Given the description of an element on the screen output the (x, y) to click on. 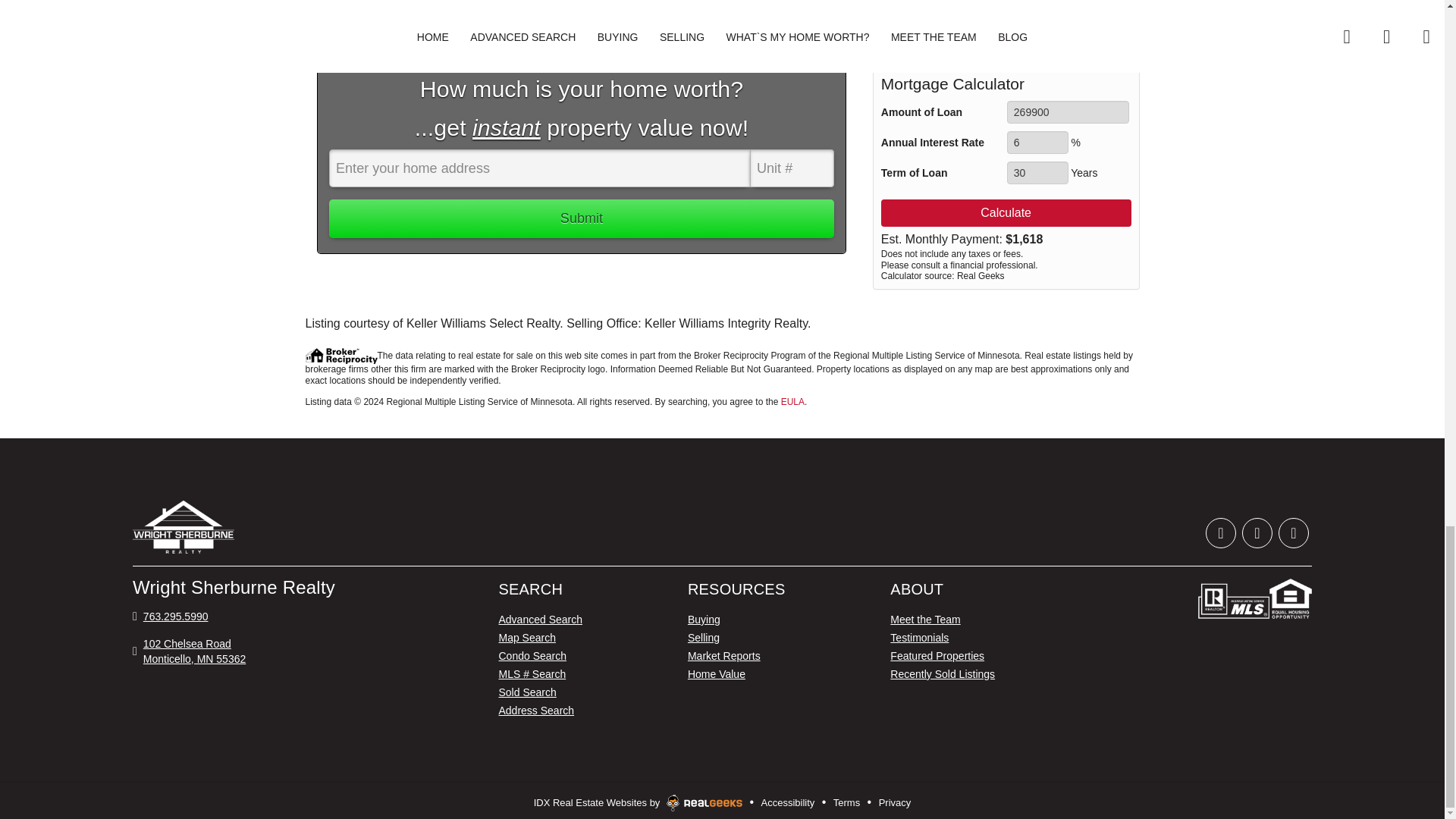
30 (1037, 172)
269900 (1068, 111)
6 (1037, 142)
